Given the description of an element on the screen output the (x, y) to click on. 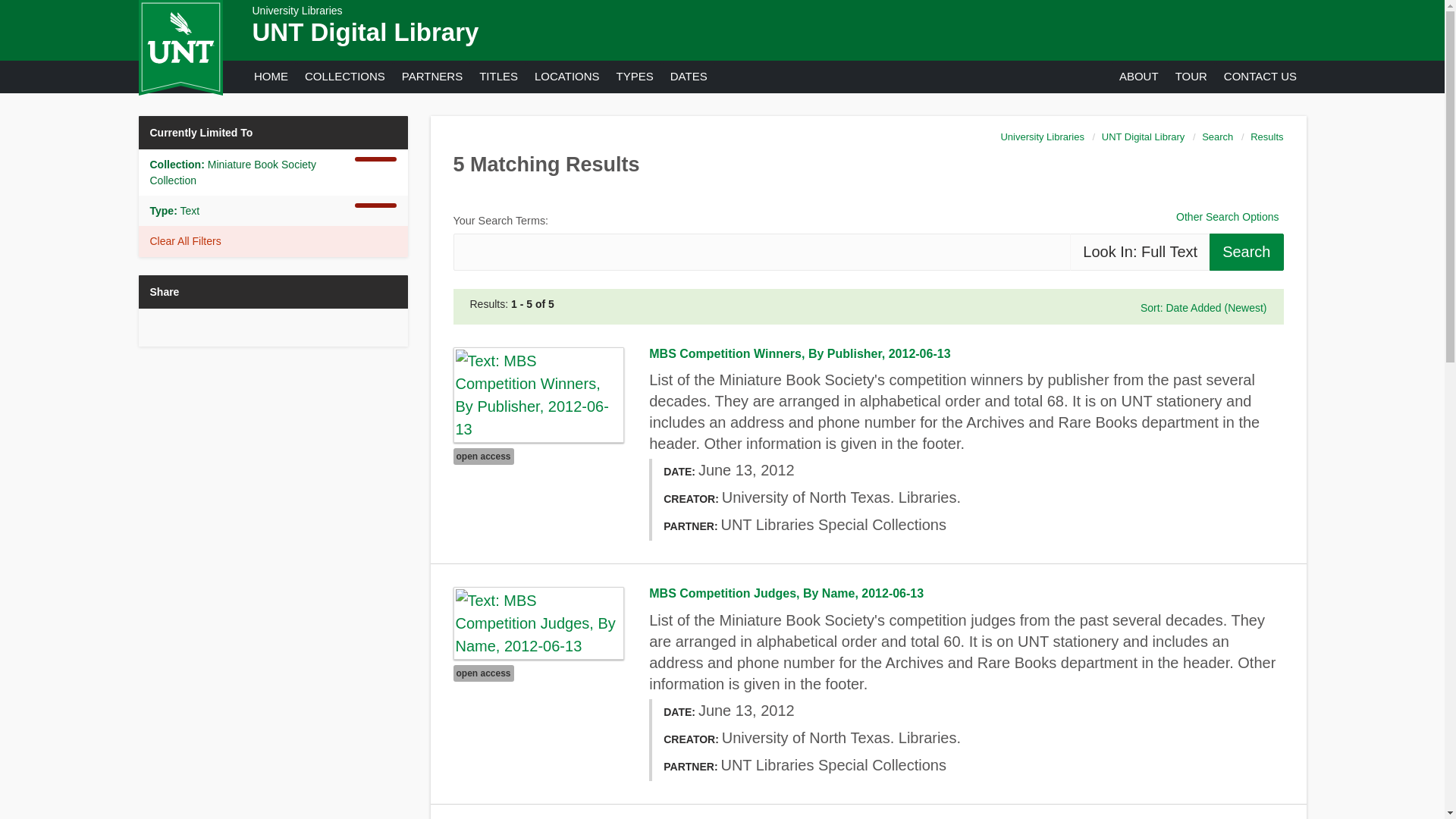
University Libraries (296, 10)
HOME (270, 76)
UNT Digital Library (365, 31)
